Given the description of an element on the screen output the (x, y) to click on. 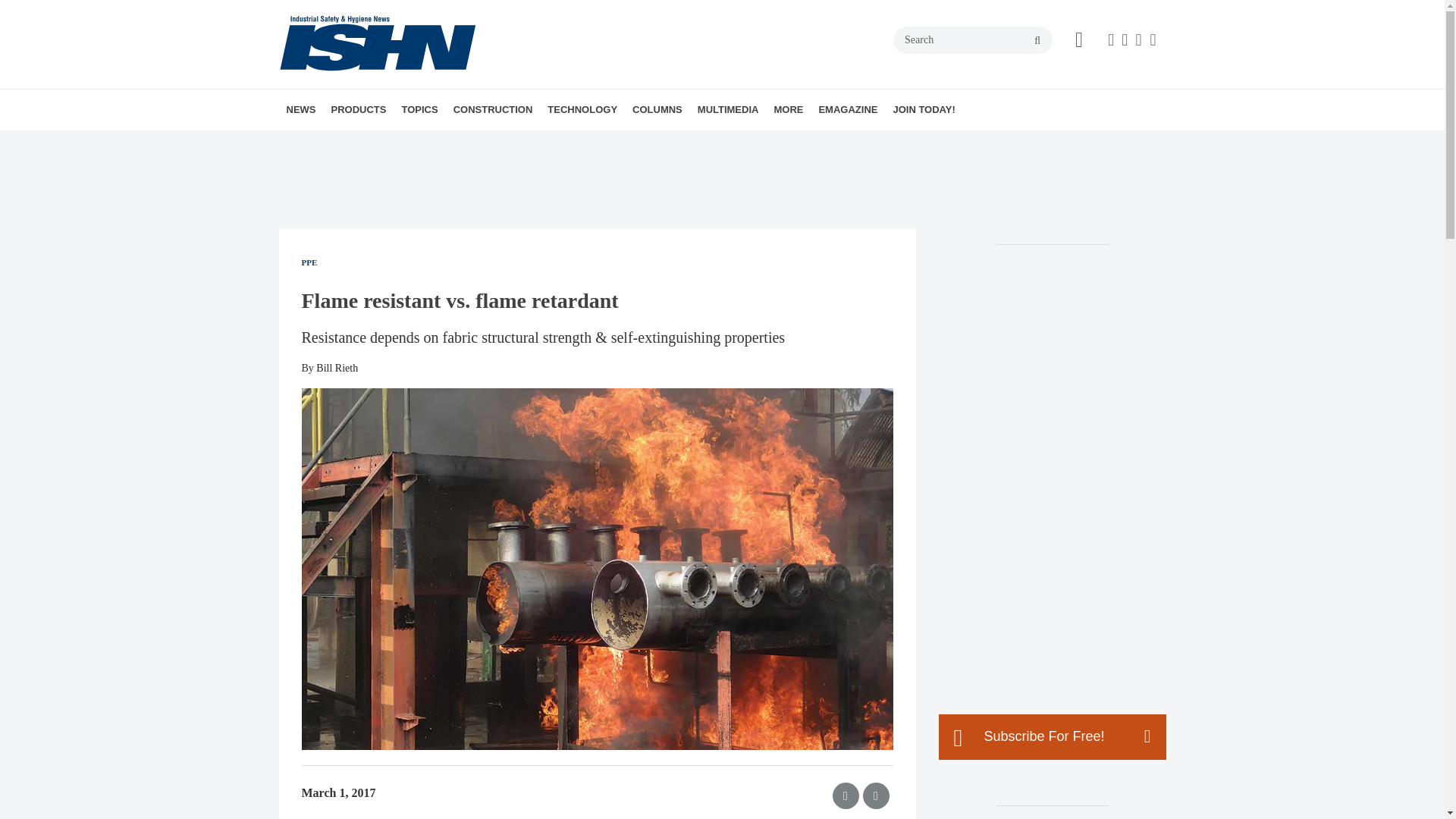
MORE TOPICS (522, 142)
TOPICS (419, 109)
ISHN PODCAST (784, 142)
VIDEOS (801, 142)
BEST PRACTICES (718, 142)
LEADING SAFETY (740, 142)
WORKPLACE HEALTH (510, 142)
OCCUPATIONAL SAFETY (515, 142)
EDITORIAL COMMENTS (736, 142)
GLOBAL SAFETY NEWS (380, 142)
PRODUCT INNOVATIONS (417, 142)
search (1037, 40)
FACILITY SAFETY (500, 142)
TECHNOLOGY (582, 109)
Search (972, 40)
